Given the description of an element on the screen output the (x, y) to click on. 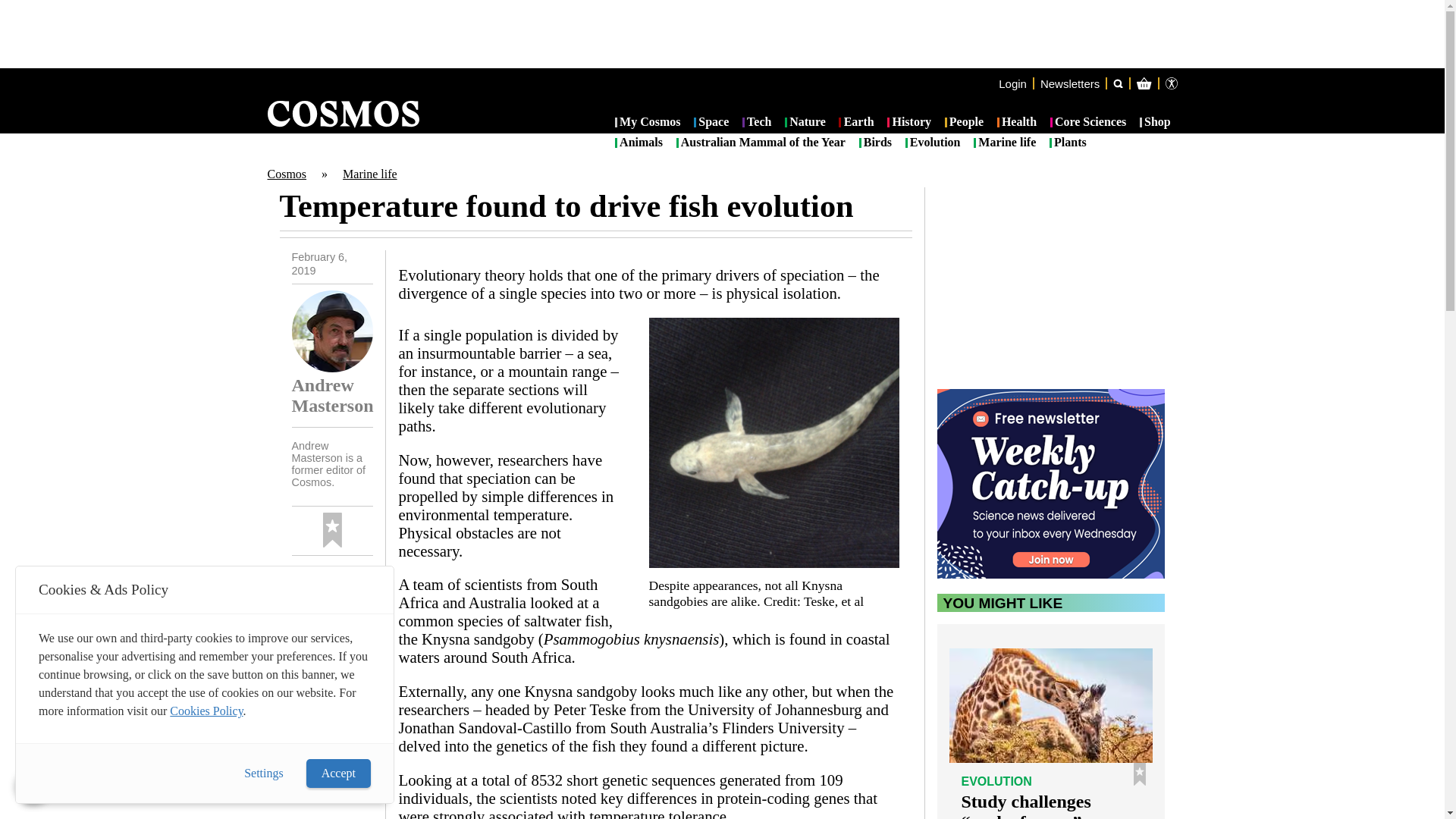
Evolution (932, 143)
My Cosmos (647, 122)
People (964, 122)
Cosmos (285, 173)
Cart (1227, 144)
temperature found to drive fish evolution 2 (774, 442)
Shop (1155, 122)
Earth (855, 122)
Accessibility Tools (1170, 82)
Login (1012, 82)
